Given the description of an element on the screen output the (x, y) to click on. 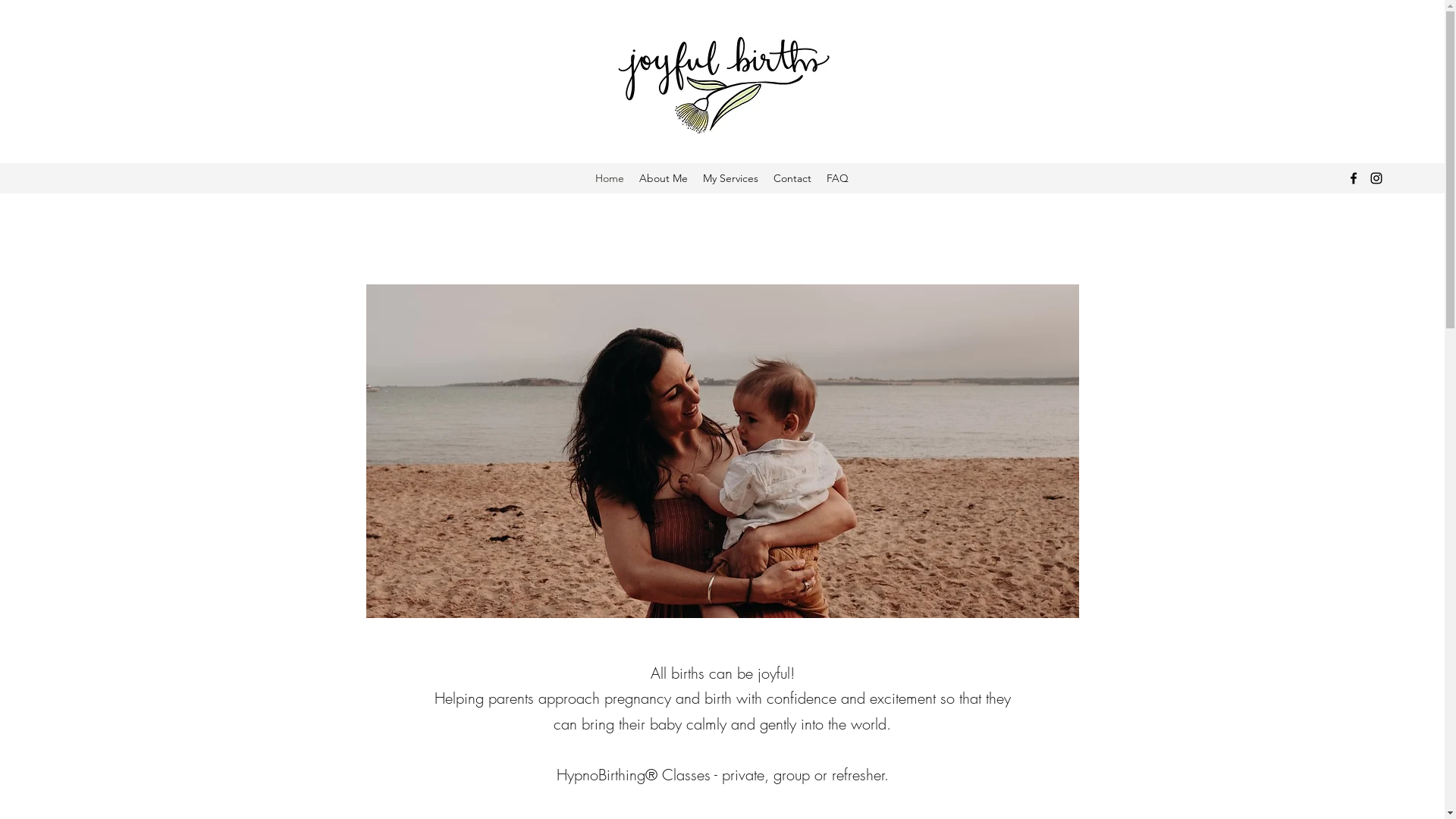
FAQ Element type: text (837, 177)
Contact Element type: text (792, 177)
Home Element type: text (609, 177)
My Services Element type: text (730, 177)
About Me Element type: text (663, 177)
